Given the description of an element on the screen output the (x, y) to click on. 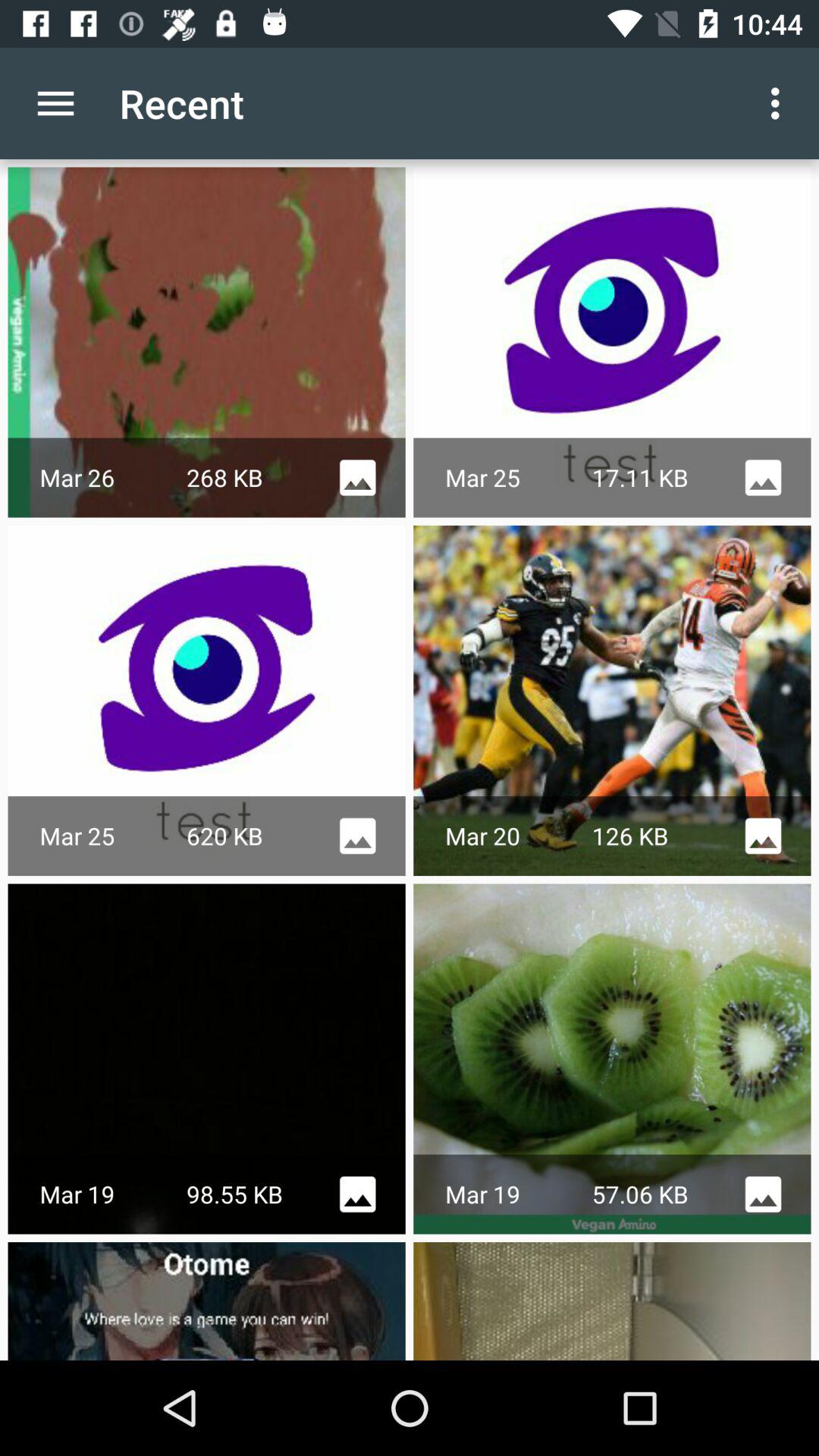
click the item to the right of the recent item (779, 103)
